Given the description of an element on the screen output the (x, y) to click on. 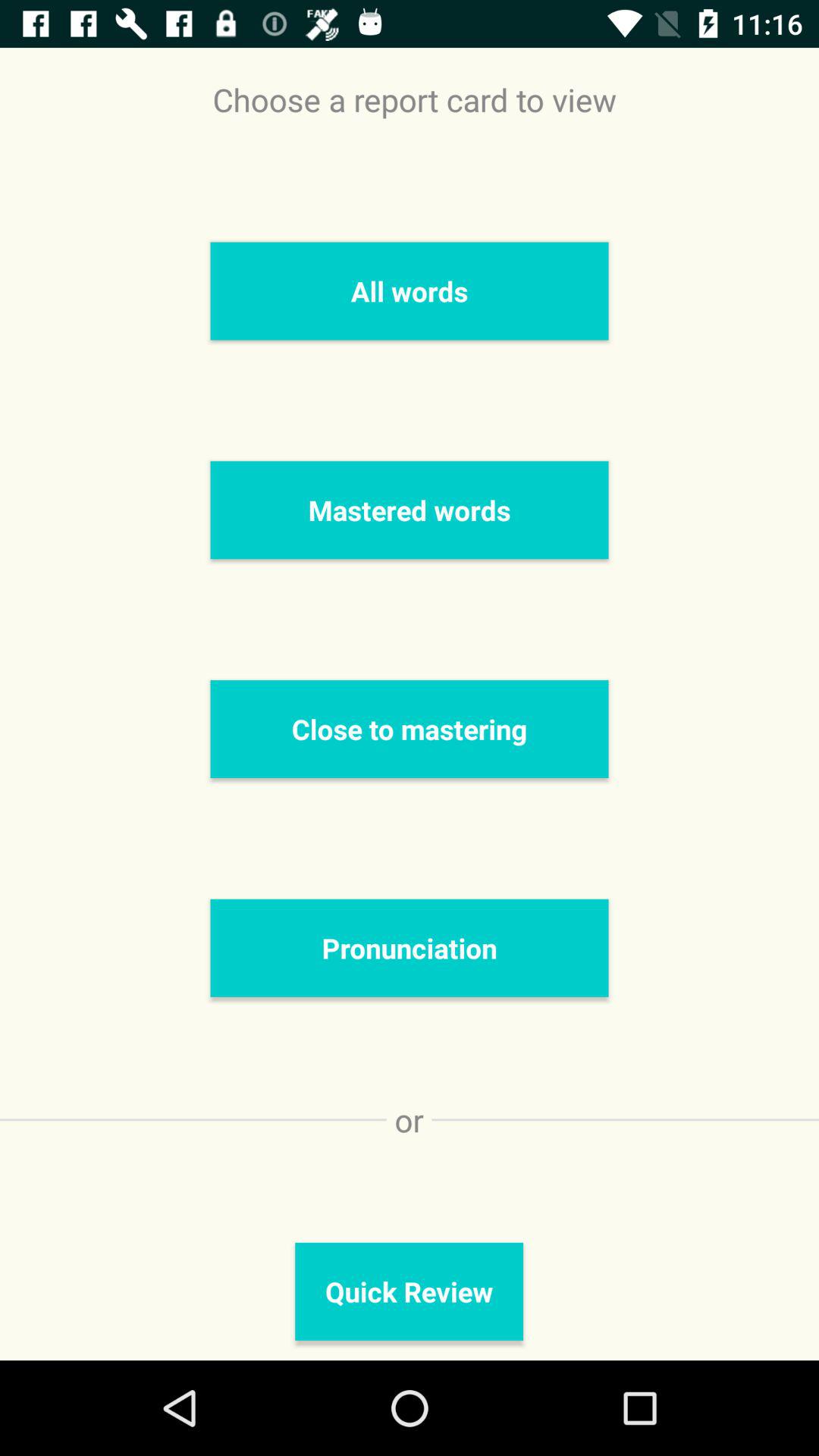
flip to the mastered words icon (409, 510)
